Given the description of an element on the screen output the (x, y) to click on. 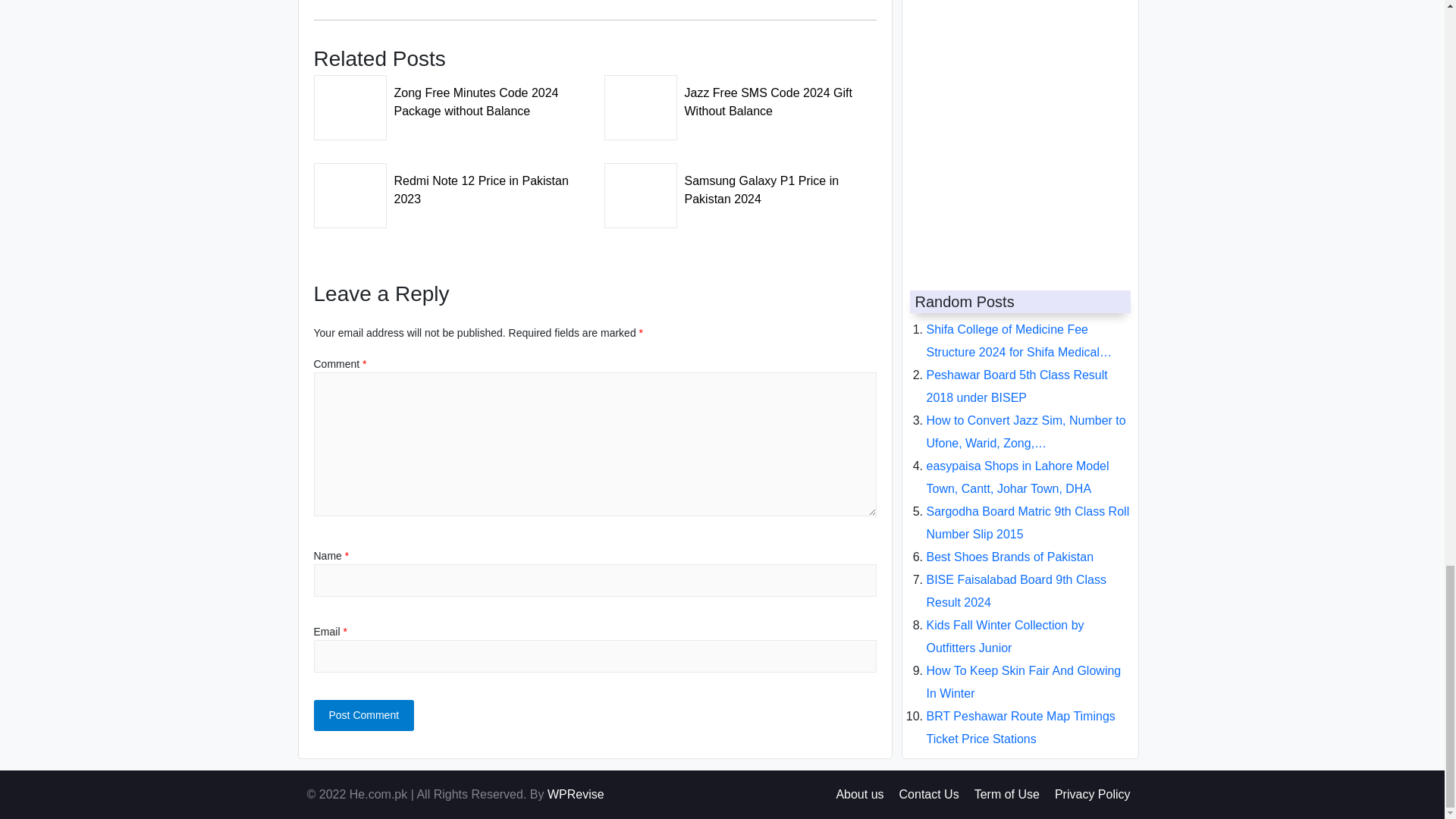
Contact Us (929, 793)
Post Comment (364, 715)
Jazz Free SMS Code 2024 Gift Without Balance (740, 97)
Zong Free Minutes Code 2024 Package without Balance (450, 97)
Post Comment (364, 715)
Redmi Note 12 Price in Pakistan 2023 (450, 185)
Samsung Galaxy P1 Price in Pakistan 2024 (740, 185)
WPRevise (575, 793)
About us (859, 793)
